Given the description of an element on the screen output the (x, y) to click on. 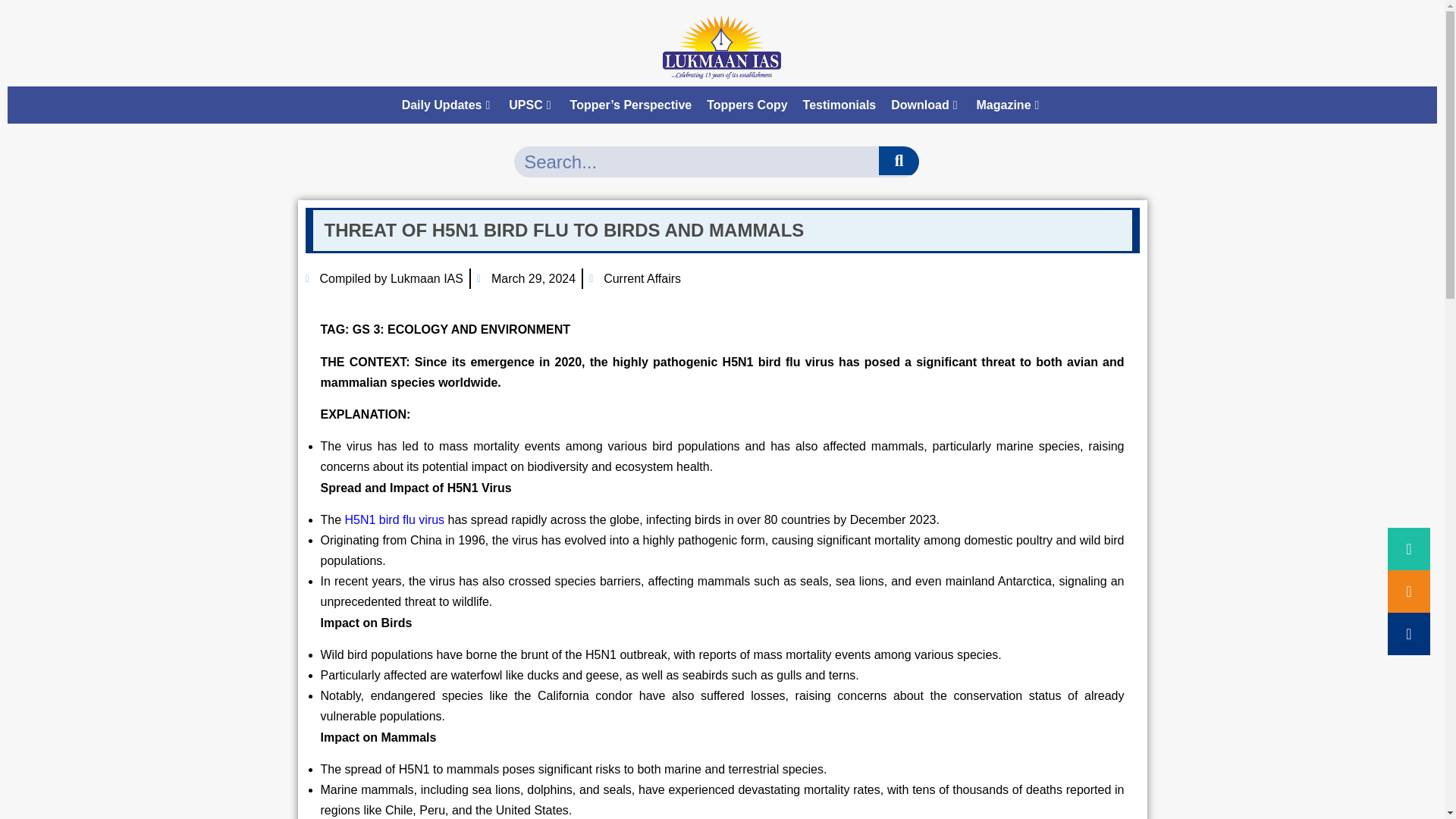
Toppers Copy (746, 105)
Download (925, 105)
UPSC (531, 105)
Daily Updates (448, 105)
Testimonials (838, 105)
Magazine (1010, 105)
